Given the description of an element on the screen output the (x, y) to click on. 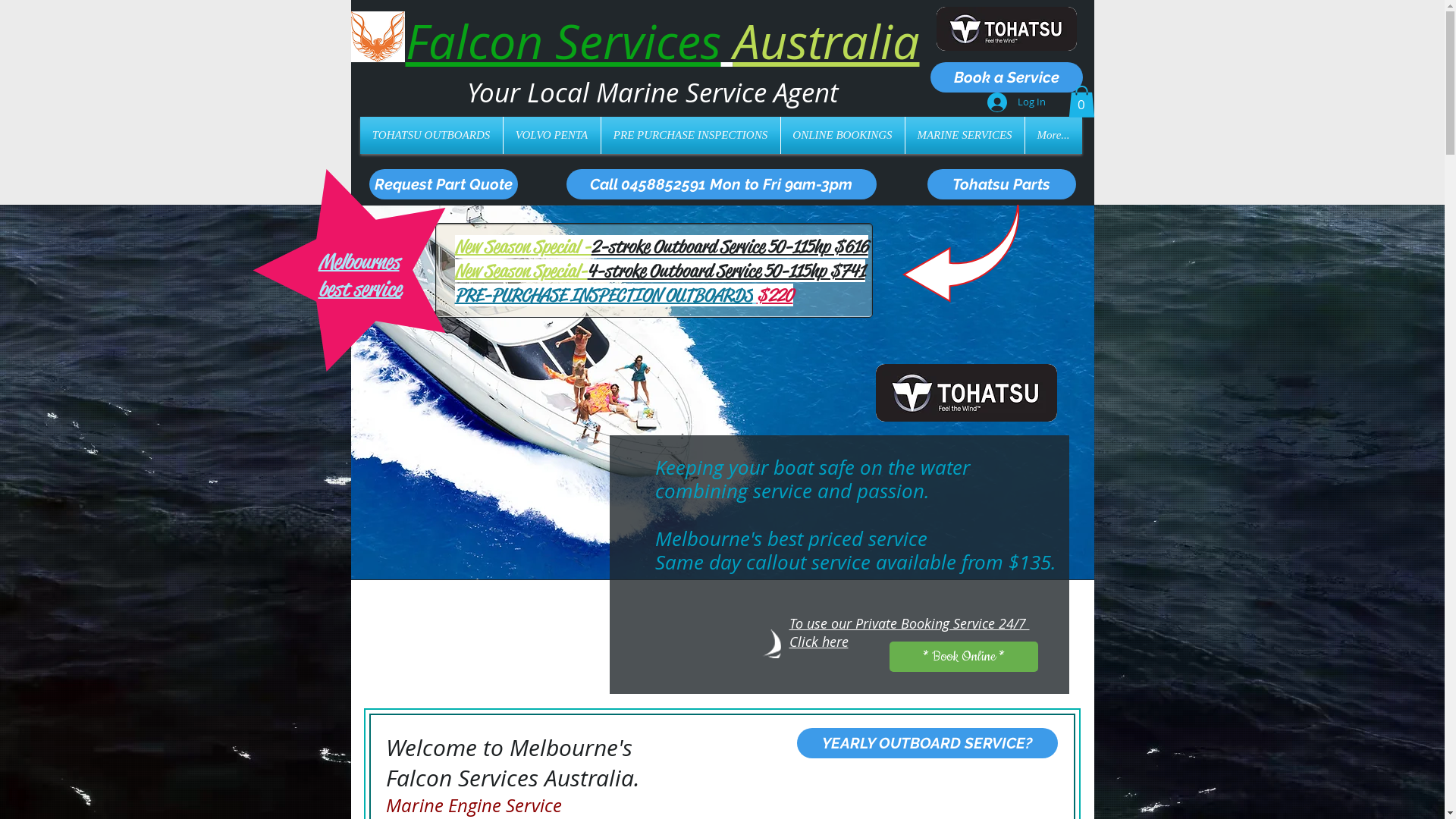
Request Part Quote Element type: text (442, 184)
PRE-PURCHASE INSPECTION OUTBOARDS Element type: text (604, 294)
To use our Private Booking Service 24/7  Element type: text (908, 623)
TOHATSU OUTBOARDS Element type: text (430, 134)
New Season Special - 2-stroke Outboard Service 50-115hp $616 Element type: text (661, 246)
Book a Service Element type: text (1005, 77)
VOLVO PENTA Element type: text (551, 134)
Melbournes best service Element type: text (359, 274)
Australia Element type: text (825, 40)
New Season Special-4-stroke Outboard Service 50-115hp $741 Element type: text (660, 269)
YEARLY OUTBOARD SERVICE? Element type: text (926, 743)
* Book Online * Element type: text (962, 656)
Falcon Services Element type: text (562, 40)
$220 Element type: text (774, 294)
0 Element type: text (1080, 101)
Call 0458852591 Mon to Fri 9am-3pm Element type: text (720, 184)
Log In Element type: text (1016, 101)
ONLINE BOOKINGS Element type: text (842, 134)
Tohatsu Parts Element type: text (1000, 184)
